Given the description of an element on the screen output the (x, y) to click on. 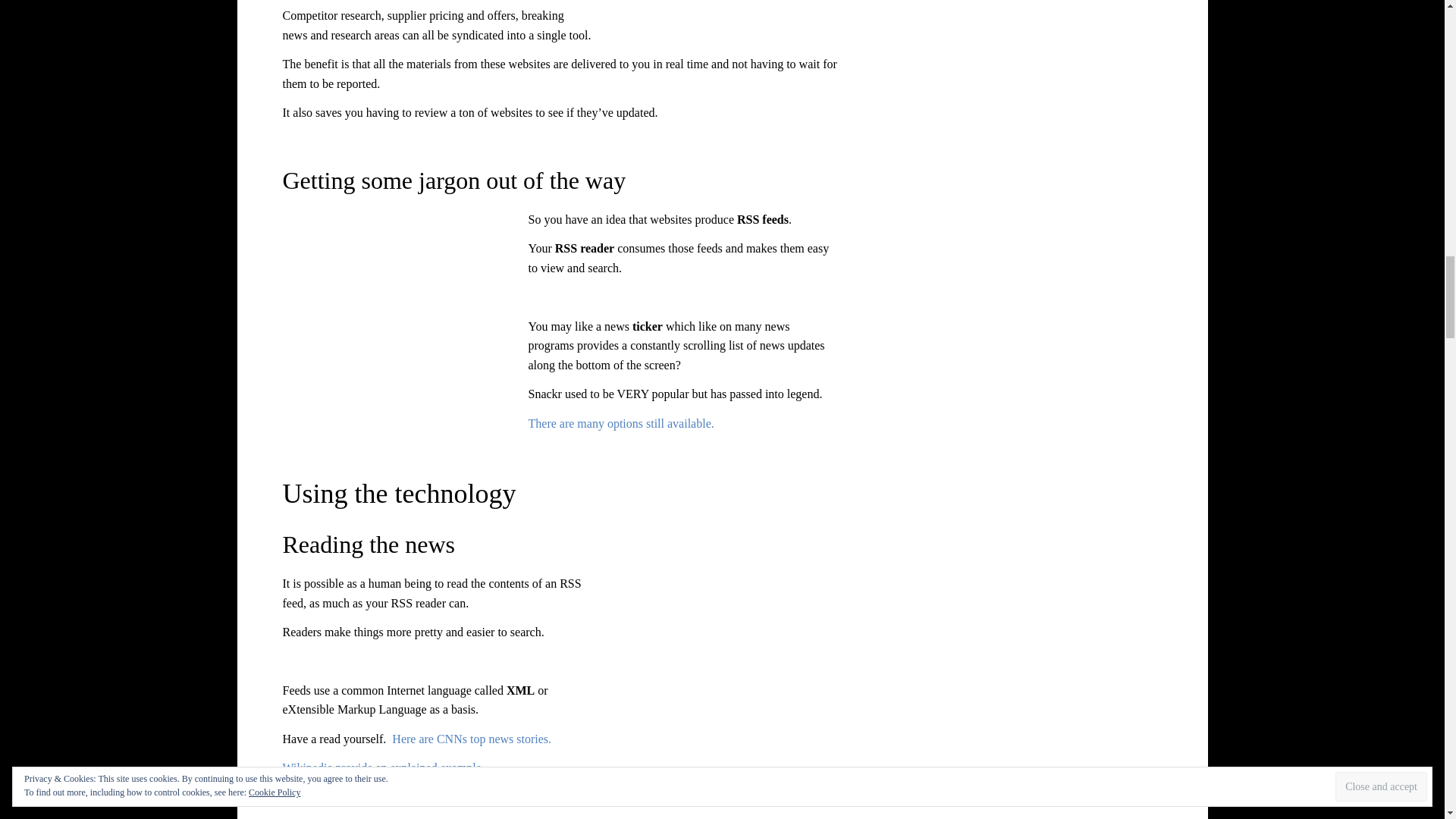
Wikipedia provide an explained example. (382, 767)
Here are CNNs top news stories. (471, 738)
There are many options still available. (620, 422)
